Given the description of an element on the screen output the (x, y) to click on. 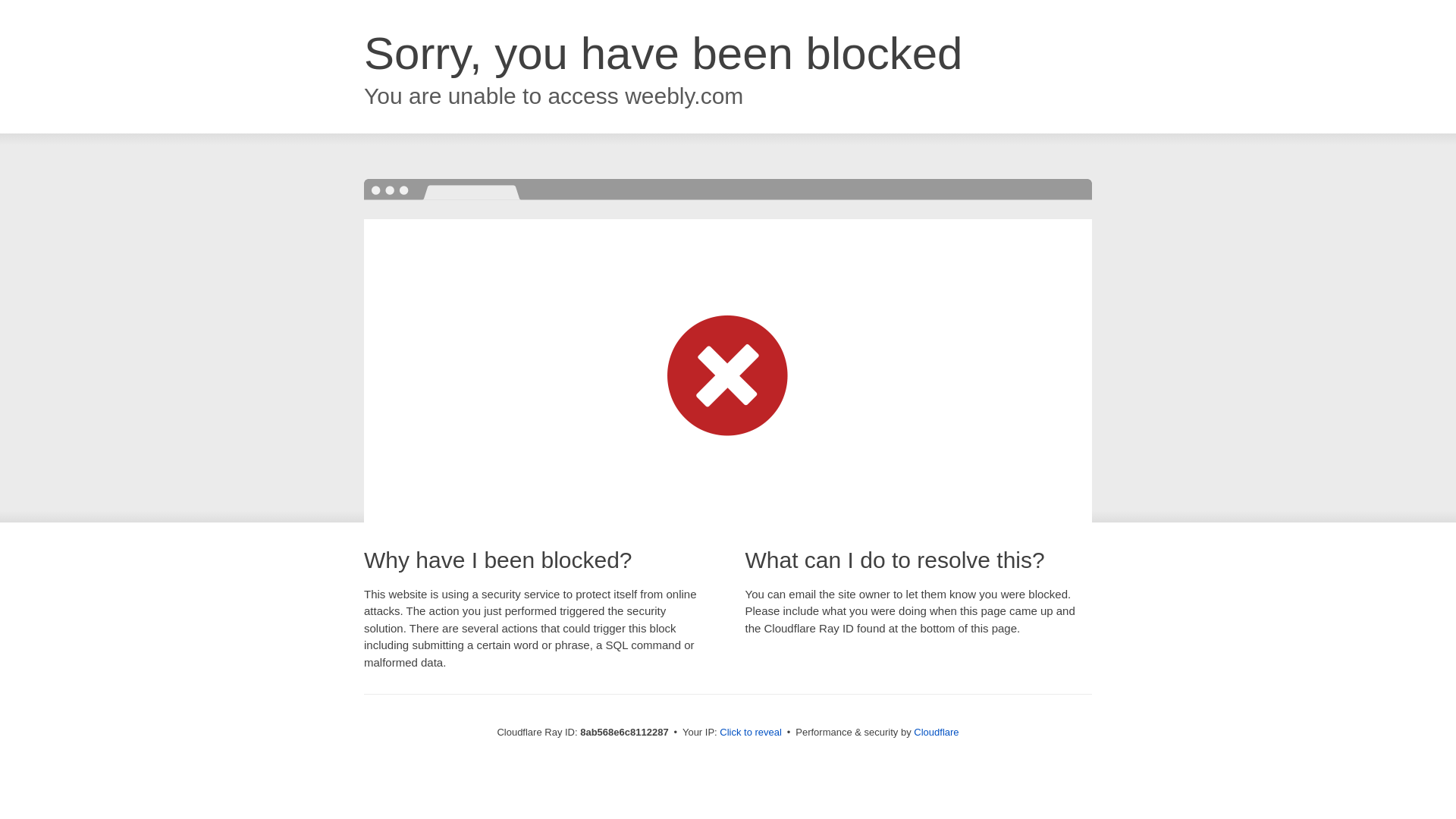
Click to reveal (750, 732)
Cloudflare (936, 731)
